Given the description of an element on the screen output the (x, y) to click on. 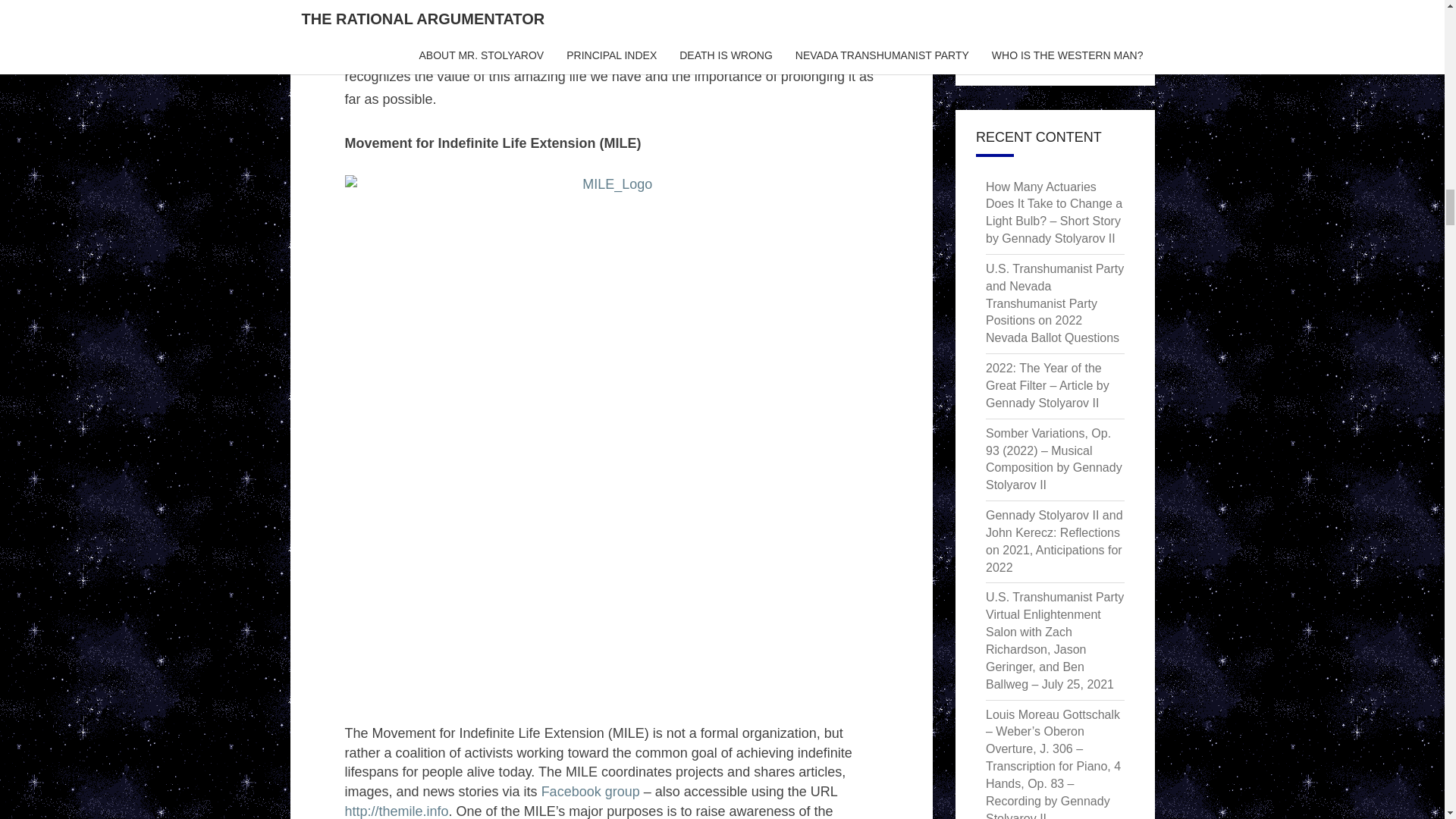
Facebook group (590, 791)
